Given the description of an element on the screen output the (x, y) to click on. 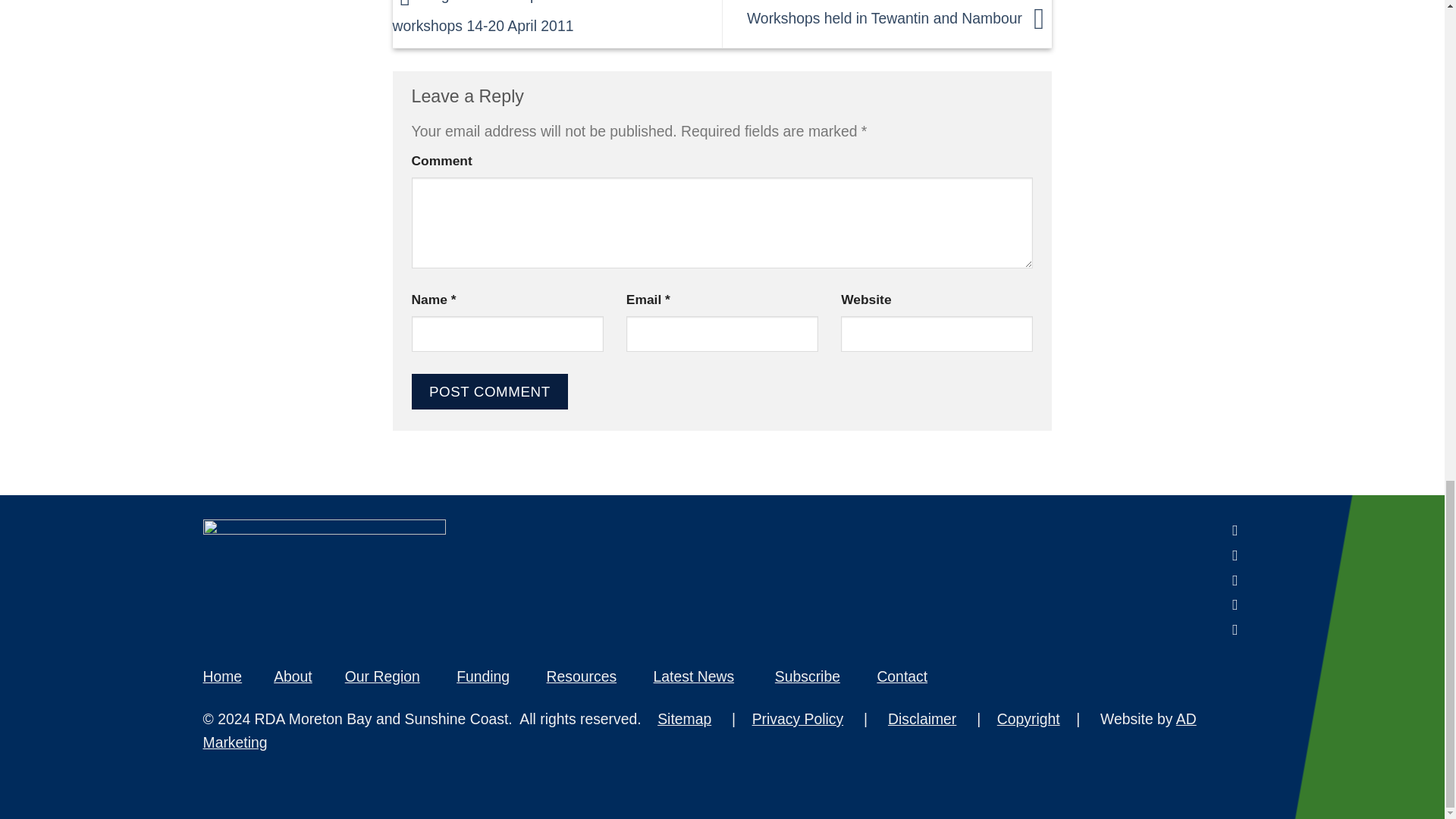
Follow on Facebook (1231, 529)
Follow on Instagram (1231, 555)
Home (223, 676)
About (293, 676)
Funding (483, 676)
Follow on Twitter (1231, 579)
Post Comment (488, 391)
Resources (582, 676)
